Given the description of an element on the screen output the (x, y) to click on. 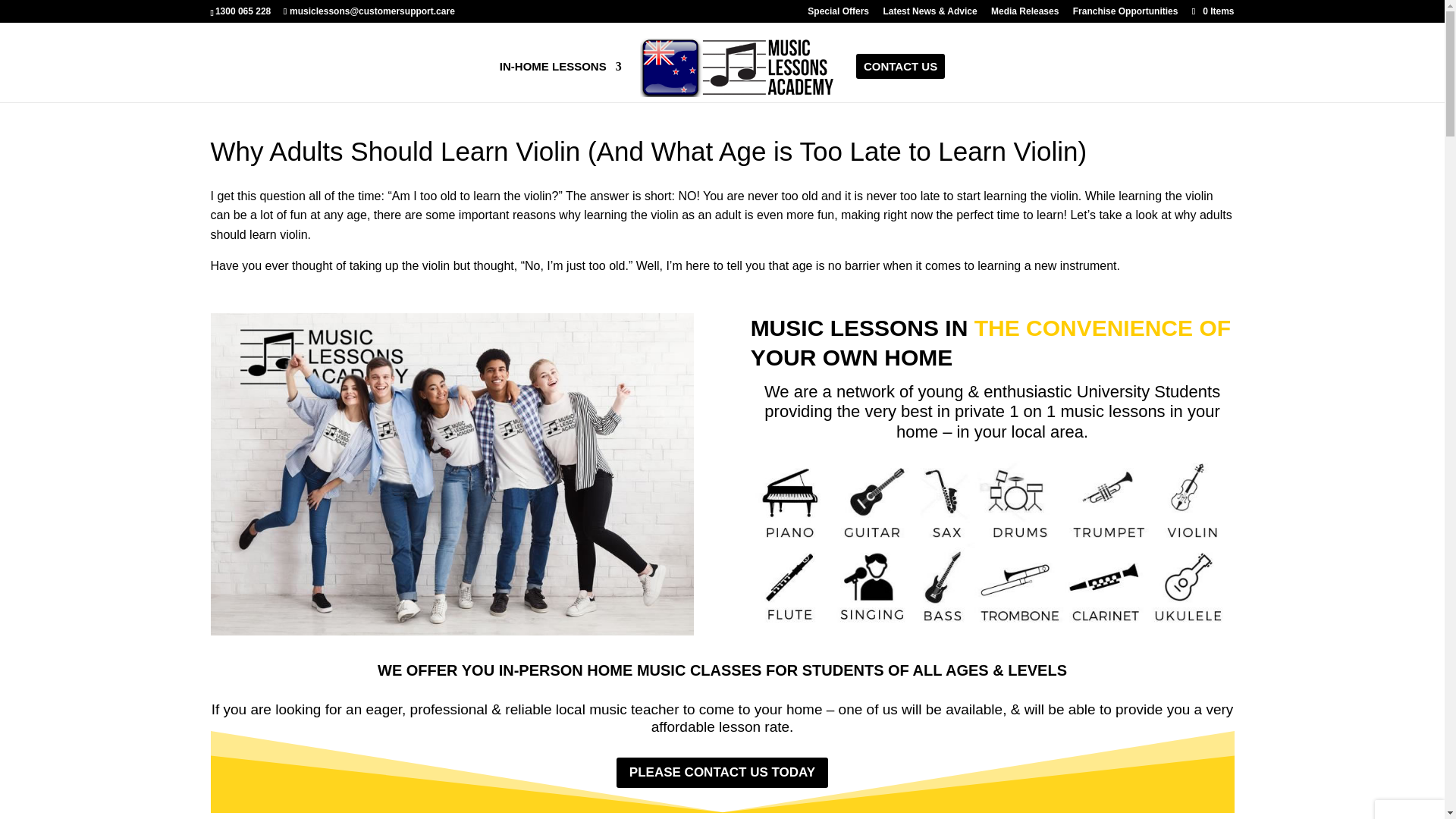
0 Items (1211, 10)
Special Offers (838, 14)
Music Lessons School (560, 81)
Media Releases (1024, 14)
Franchise Opportunities (1125, 14)
CONTACT US (900, 81)
IN-HOME LESSONS (560, 81)
